Given the description of an element on the screen output the (x, y) to click on. 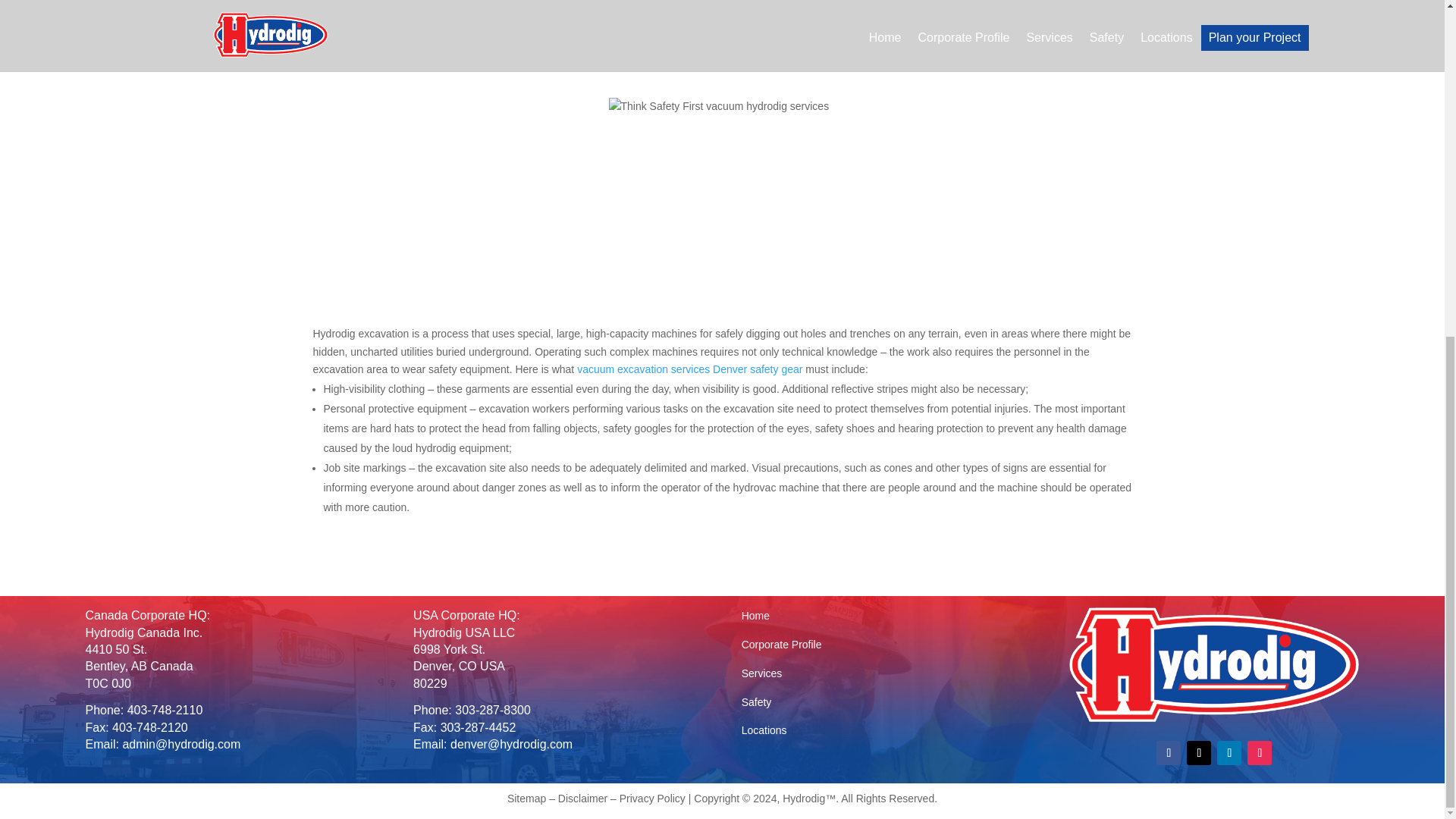
vacuum excavation services Denver safety gear (689, 369)
Follow on LinkedIn (1229, 752)
HYDRODIG-LOGO (1213, 664)
Corporate Profile (781, 644)
303-287-8300 (492, 709)
Follow on X (1198, 752)
Safety (756, 702)
Services (762, 673)
Follow on Instagram (1259, 752)
Home (755, 615)
403-748-2110 (165, 709)
Locations (764, 729)
Follow on Facebook (1168, 752)
